Given the description of an element on the screen output the (x, y) to click on. 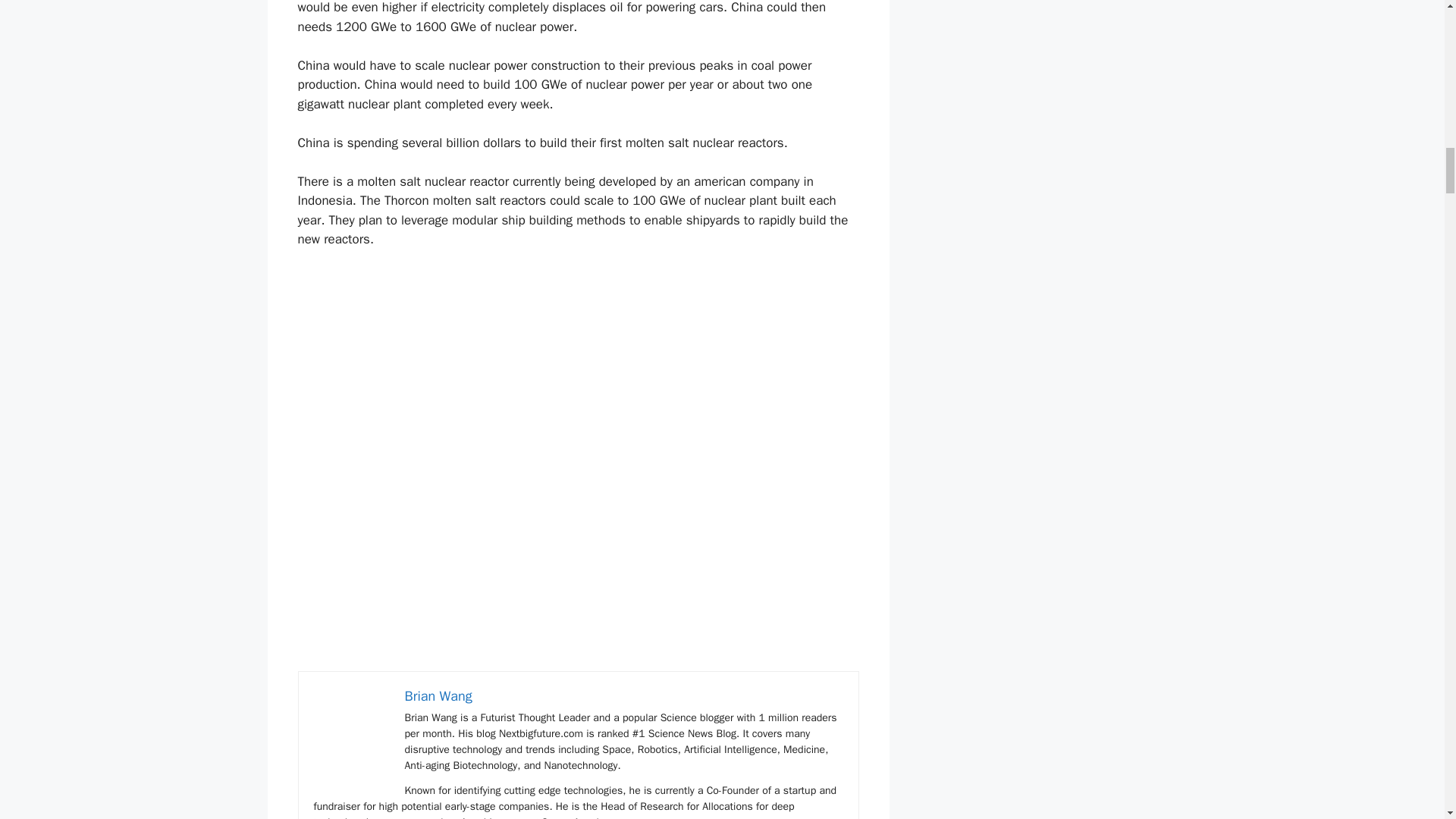
Brian Wang (437, 695)
